Given the description of an element on the screen output the (x, y) to click on. 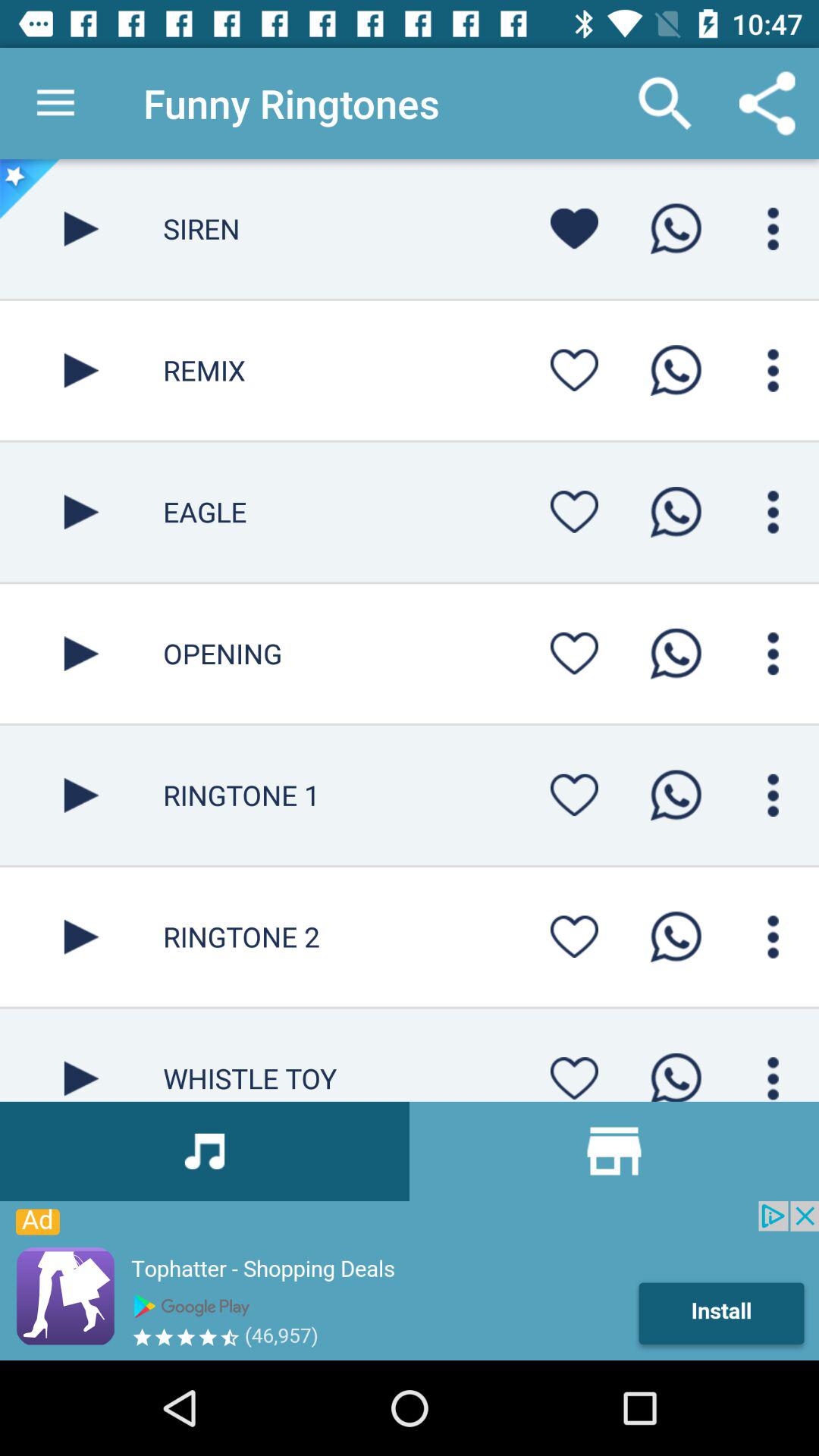
play music (81, 653)
